Given the description of an element on the screen output the (x, y) to click on. 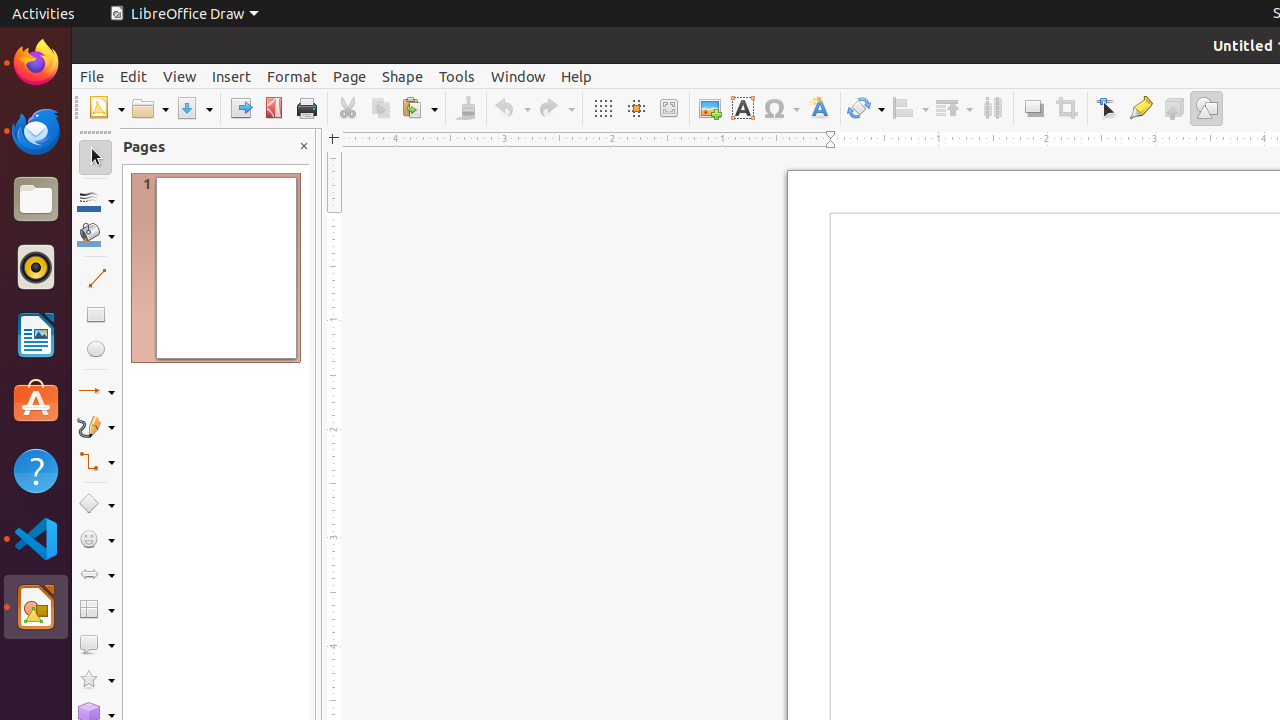
Undo Element type: push-button (512, 108)
Fill Color Element type: push-button (259, 144)
Symbol Element type: push-button (781, 108)
View Element type: menu (179, 76)
